Given the description of an element on the screen output the (x, y) to click on. 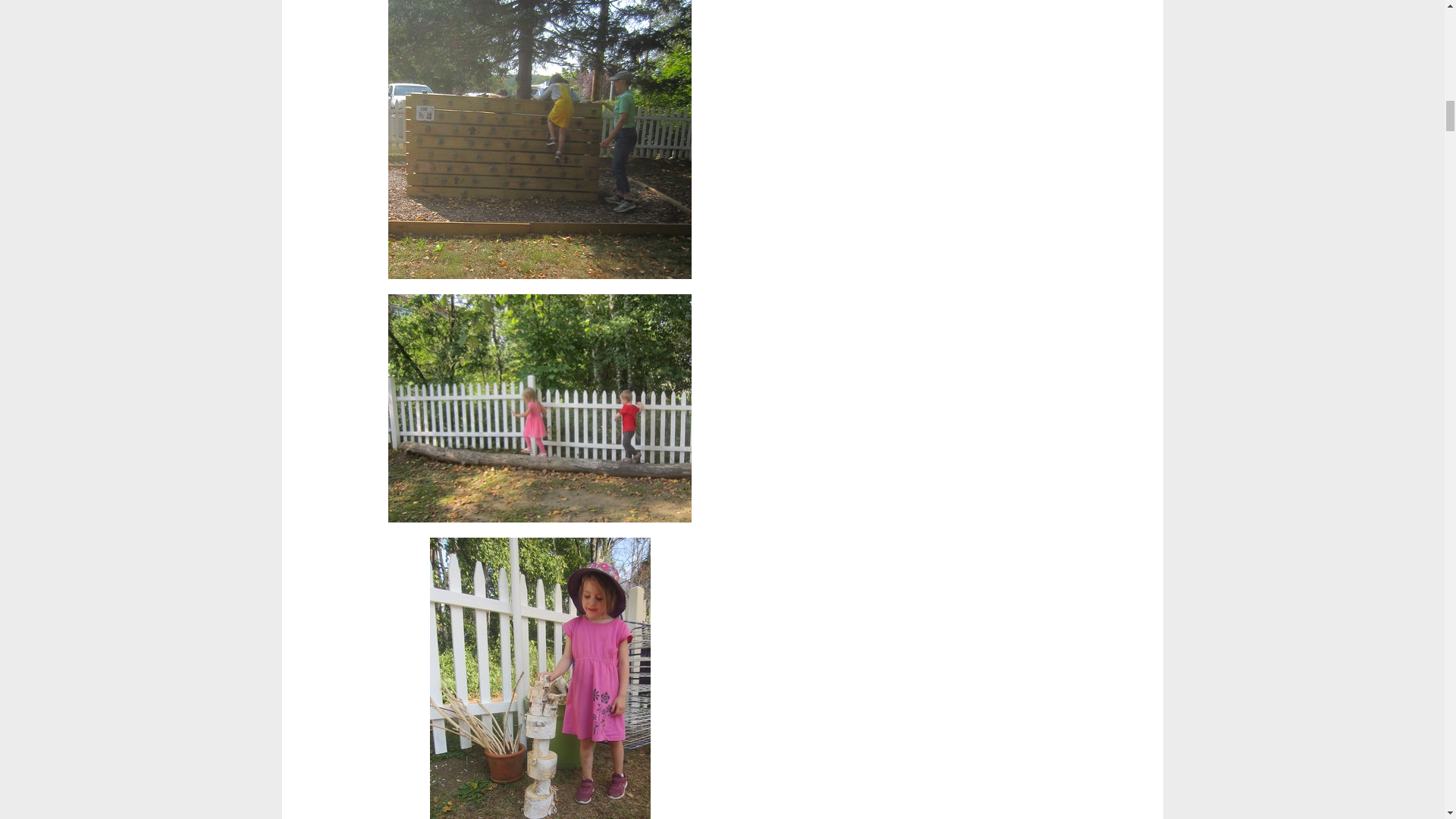
tree block tower (540, 678)
mastering the climbing wall (540, 139)
walking the log (540, 408)
